Given the description of an element on the screen output the (x, y) to click on. 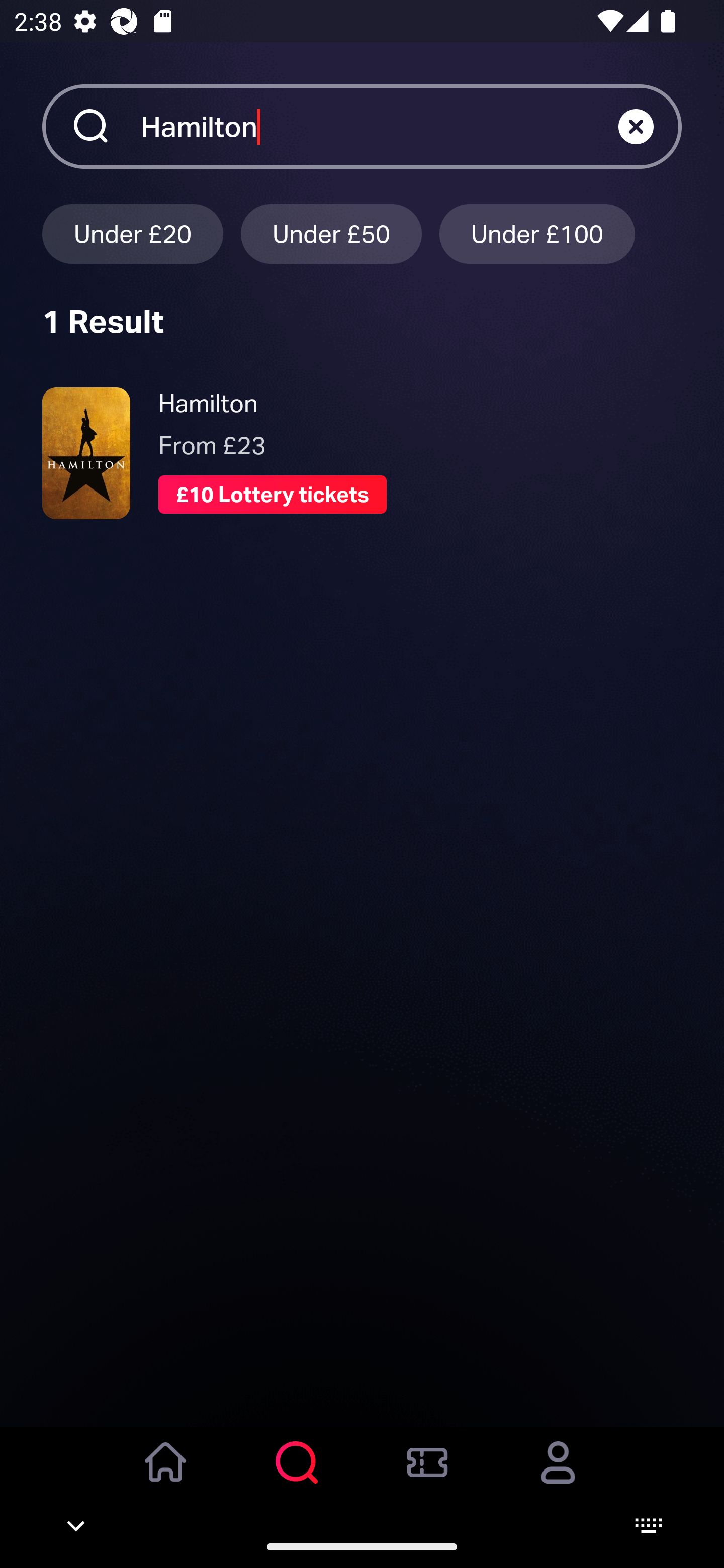
Hamilton (379, 126)
Under £20 (131, 233)
Under £50 (331, 233)
Under £100 (536, 233)
Home (165, 1475)
Orders (427, 1475)
Account (558, 1475)
